Given the description of an element on the screen output the (x, y) to click on. 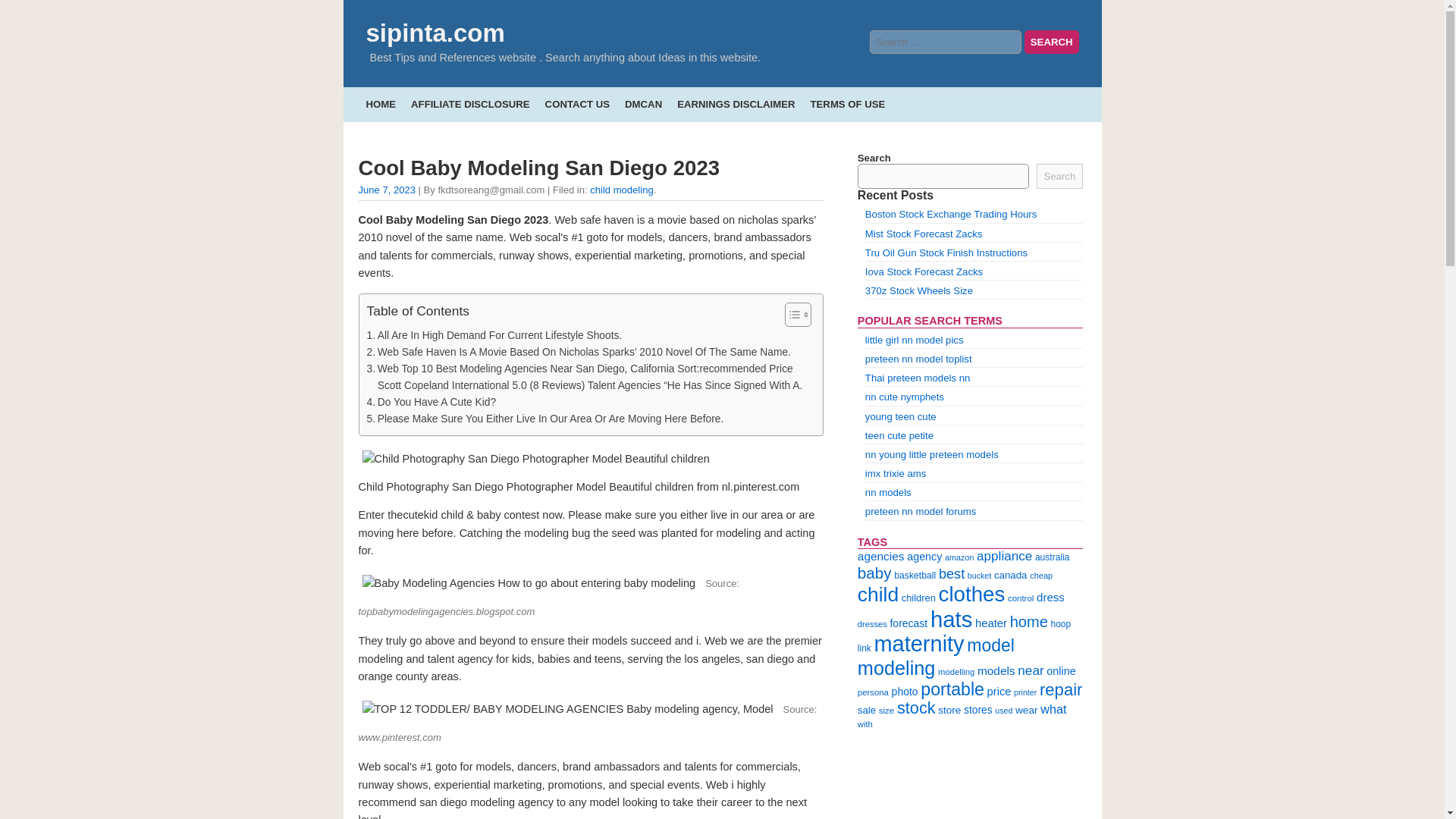
Thai preteen models nn (917, 378)
CONTACT US (577, 103)
Iova Stock Forecast Zacks (923, 271)
young teen cute (900, 416)
370z Stock Wheels Size (918, 290)
All Are In High Demand For Current Lifestyle Shoots. (494, 335)
Search (1058, 176)
TERMS OF USE (847, 103)
June 7, 2023 (386, 189)
imx trixie ams (895, 473)
